Given the description of an element on the screen output the (x, y) to click on. 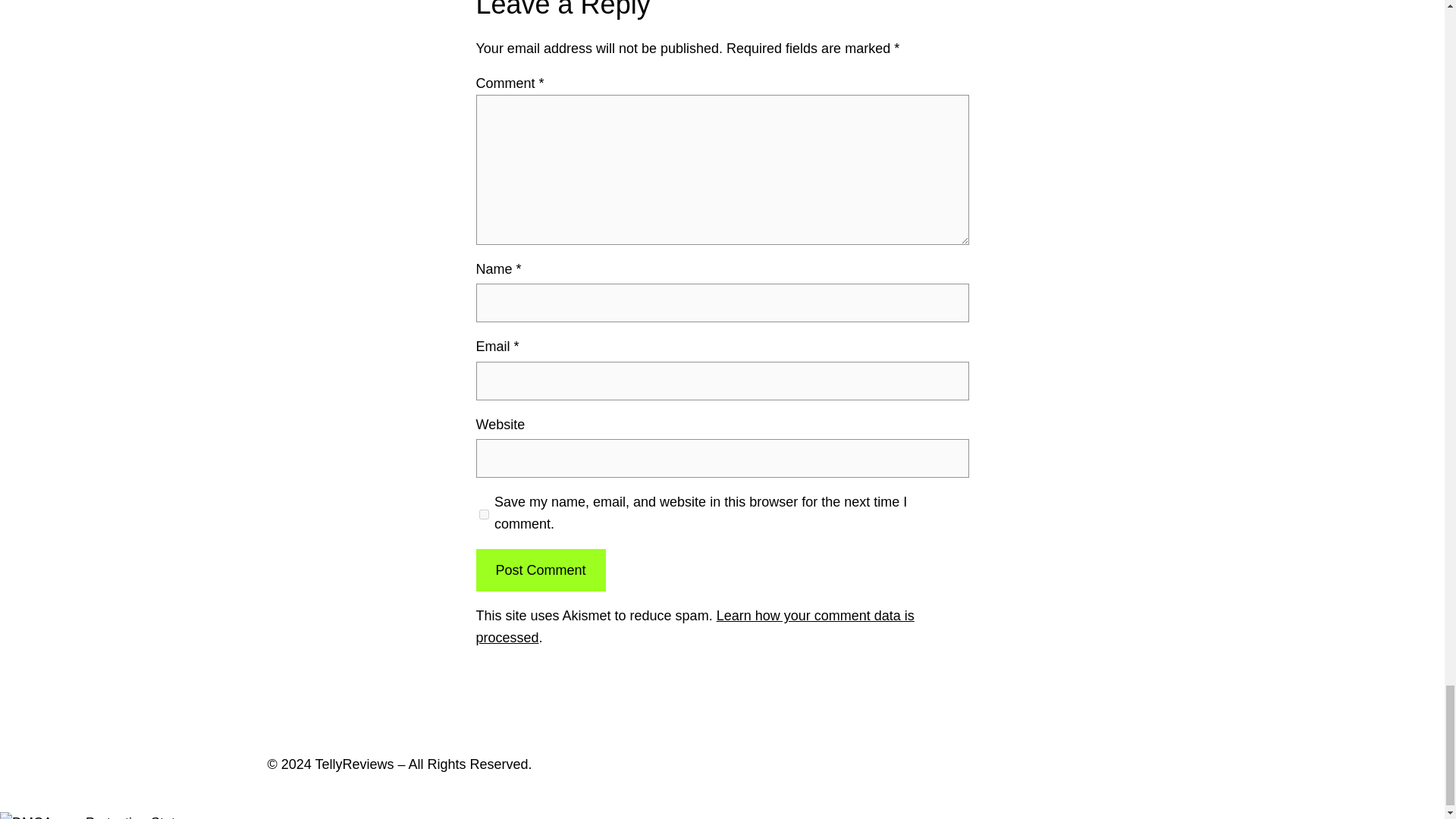
Learn how your comment data is processed (695, 626)
Post Comment (540, 570)
Post Comment (540, 570)
